Given the description of an element on the screen output the (x, y) to click on. 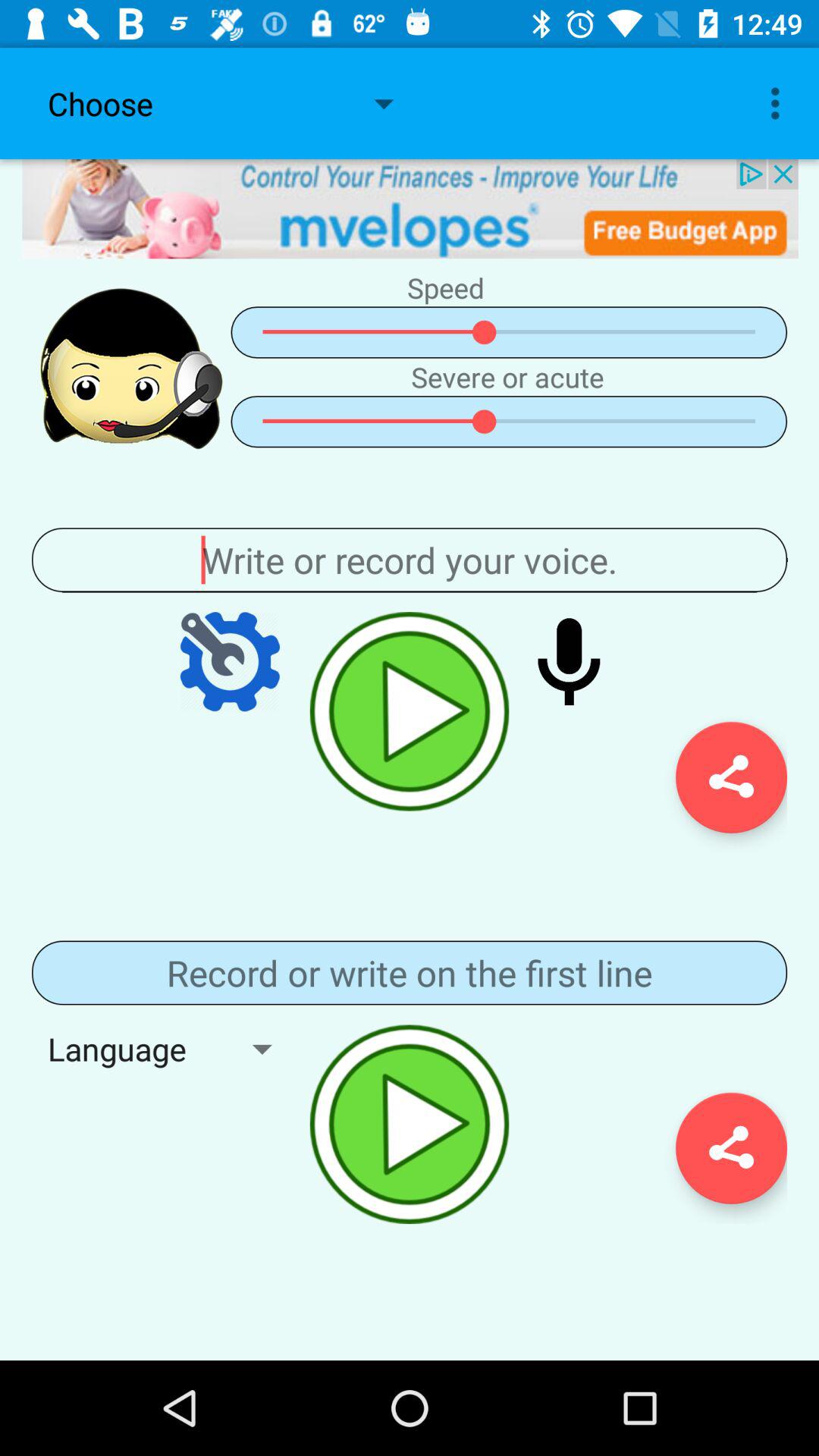
share button (731, 1148)
